Given the description of an element on the screen output the (x, y) to click on. 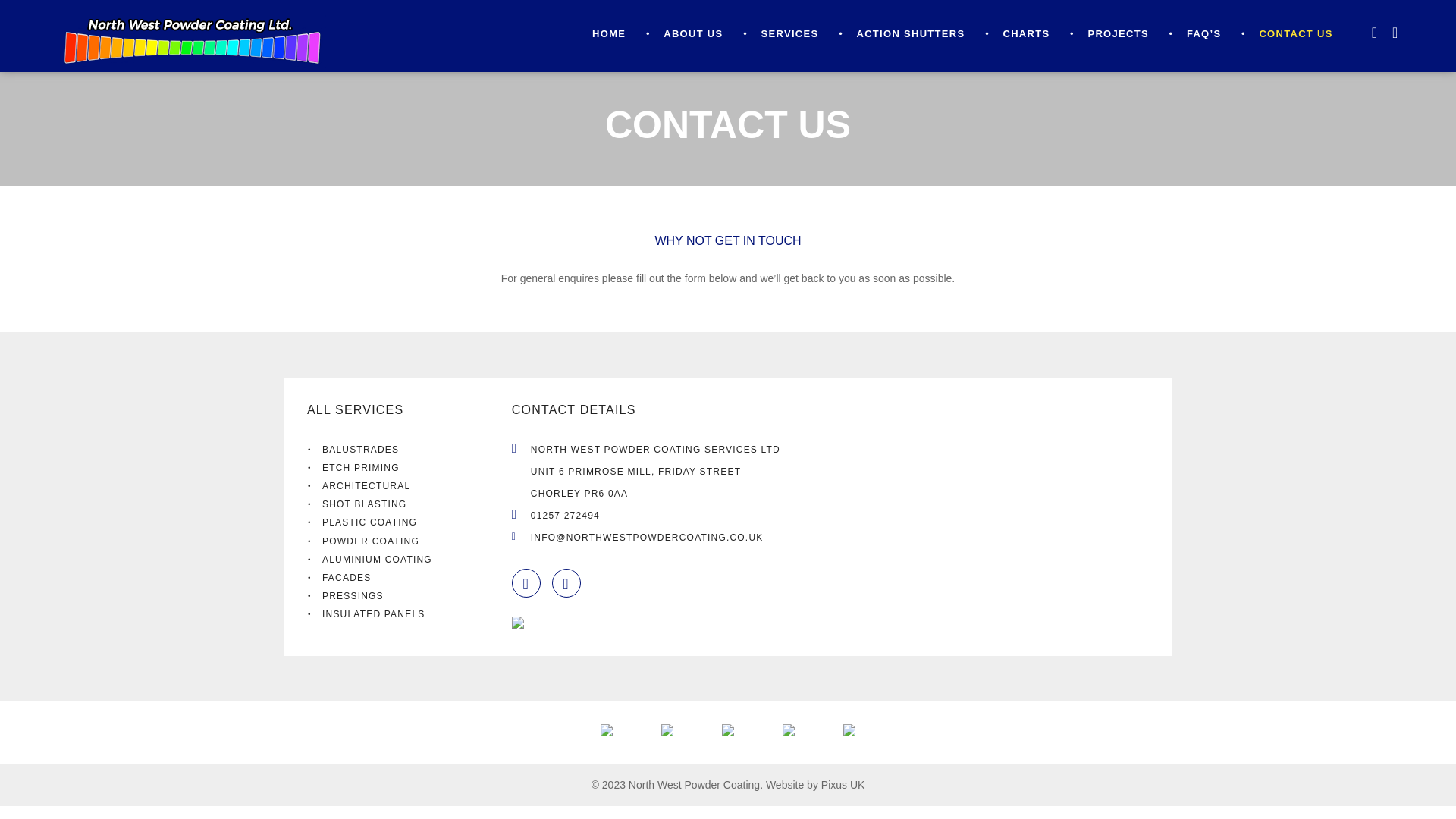
ETCH PRIMING (409, 466)
ALUMINIUM COATING (409, 557)
FACADES (409, 576)
INSULATED PANELS (409, 612)
01257 272494 (565, 515)
BALUSTRADES (409, 447)
ARCHITECTURAL (409, 484)
PLASTIC COATING (409, 520)
CONTACT US (1295, 33)
PROJECTS (1117, 33)
